Given the description of an element on the screen output the (x, y) to click on. 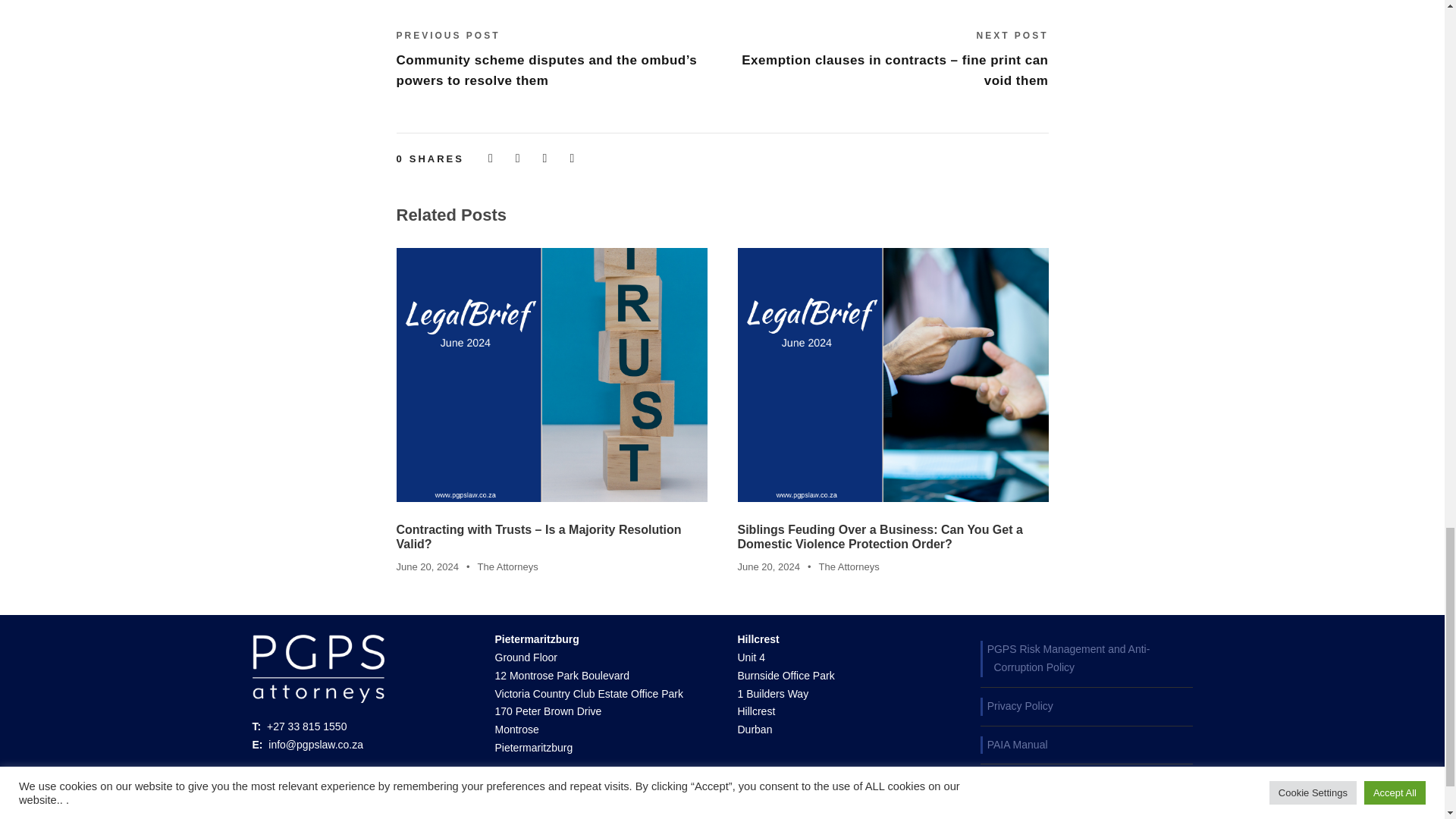
Posts by The Attorneys (507, 566)
Siblings (892, 375)
Posts by The Attorneys (848, 566)
Trust (551, 375)
